Given the description of an element on the screen output the (x, y) to click on. 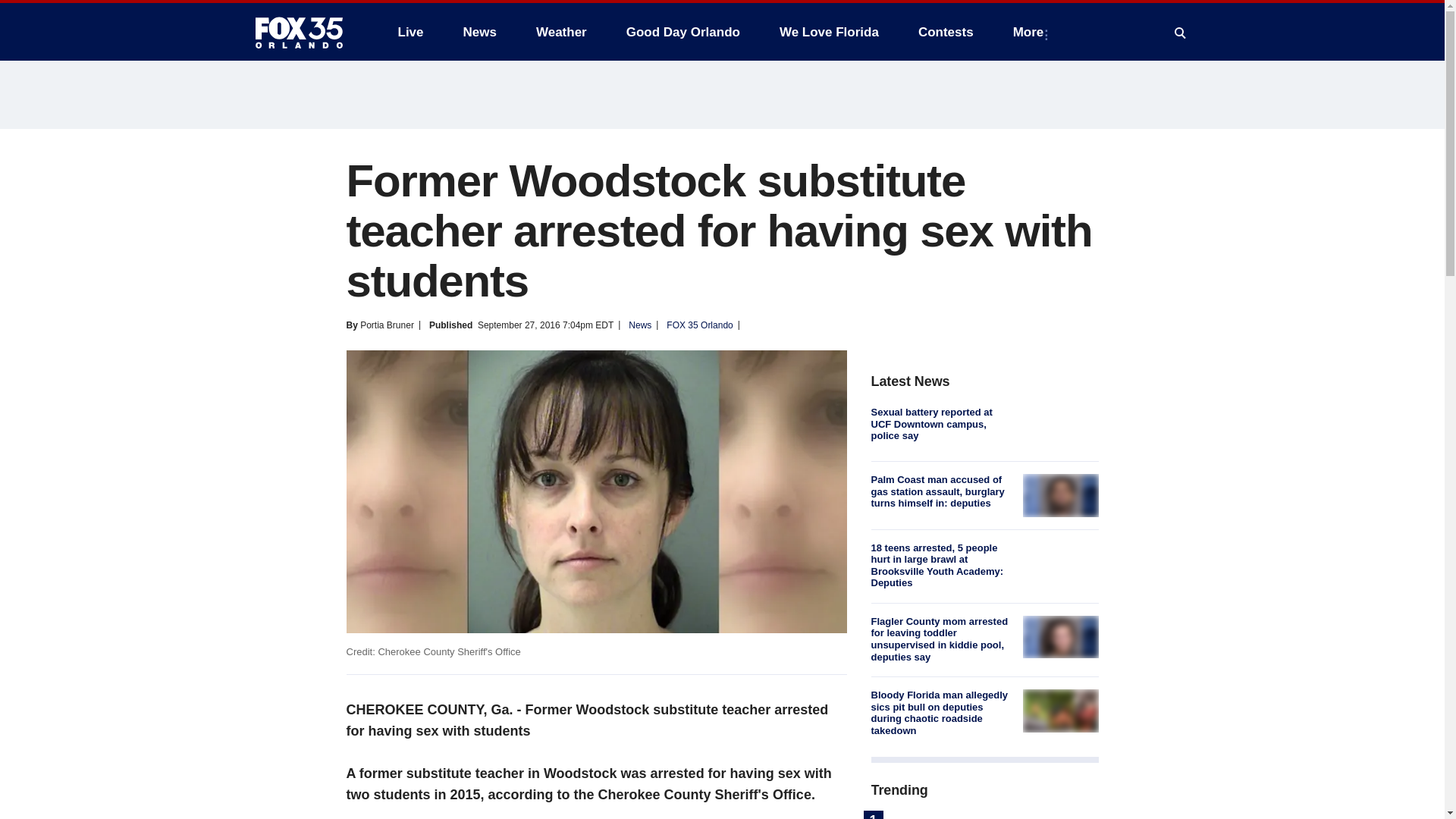
News (479, 32)
Weather (561, 32)
We Love Florida (829, 32)
Live (410, 32)
More (1031, 32)
Good Day Orlando (683, 32)
Contests (945, 32)
